Given the description of an element on the screen output the (x, y) to click on. 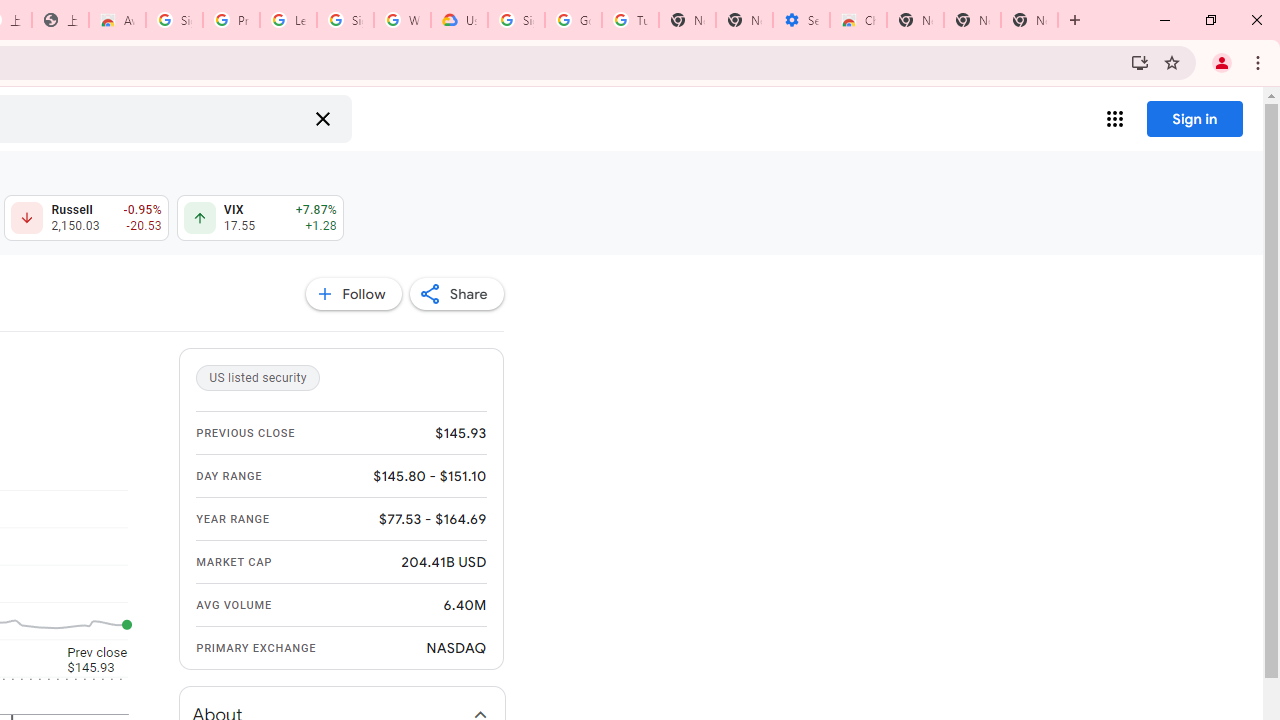
Follow (353, 293)
Sign in - Google Accounts (345, 20)
Google Account Help (573, 20)
Share (456, 293)
New Tab (1029, 20)
Clear search (322, 118)
Sign in - Google Accounts (516, 20)
